Given the description of an element on the screen output the (x, y) to click on. 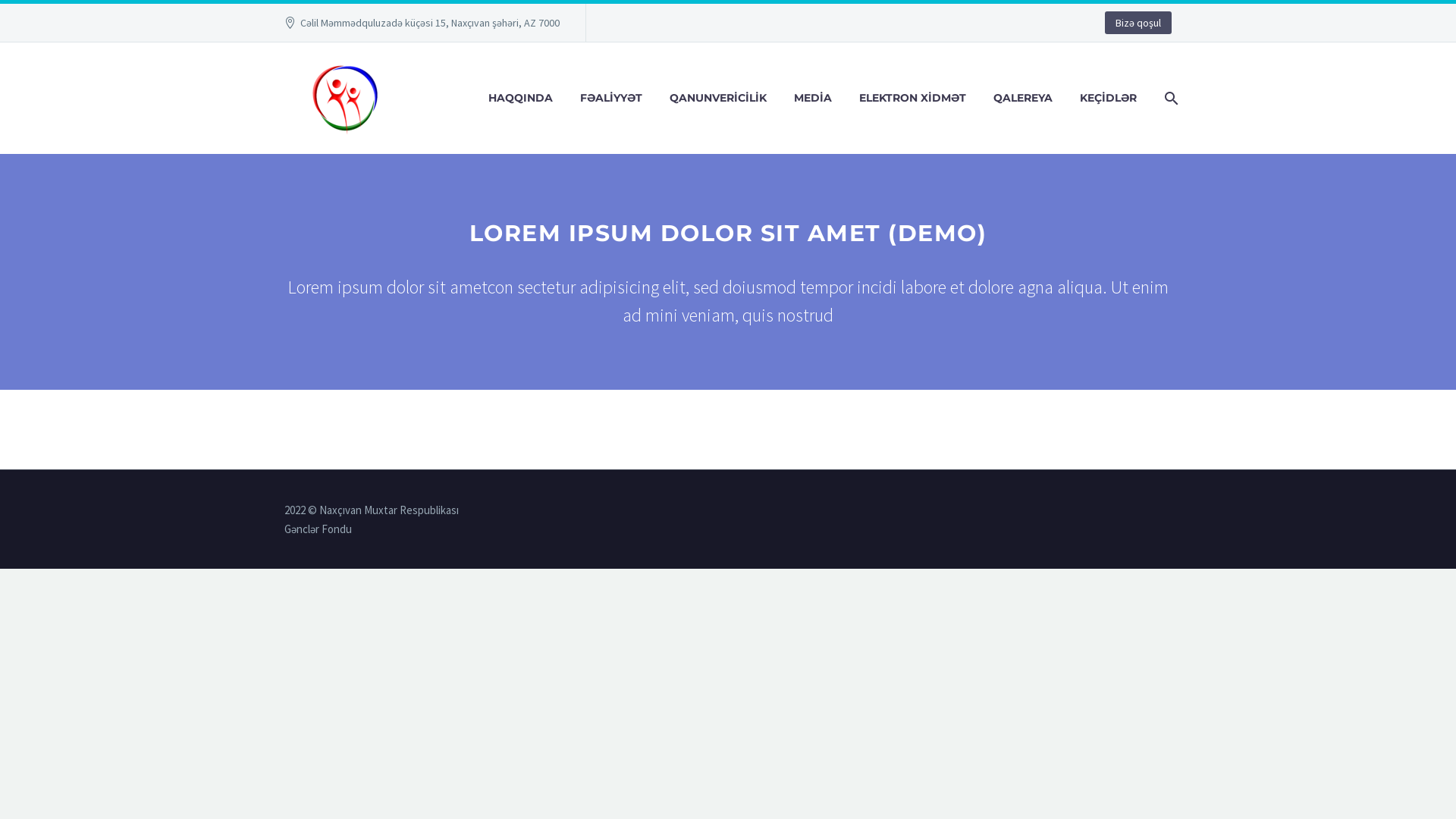
QALEREYA Element type: text (1022, 97)
HAQQINDA Element type: text (520, 97)
